Given the description of an element on the screen output the (x, y) to click on. 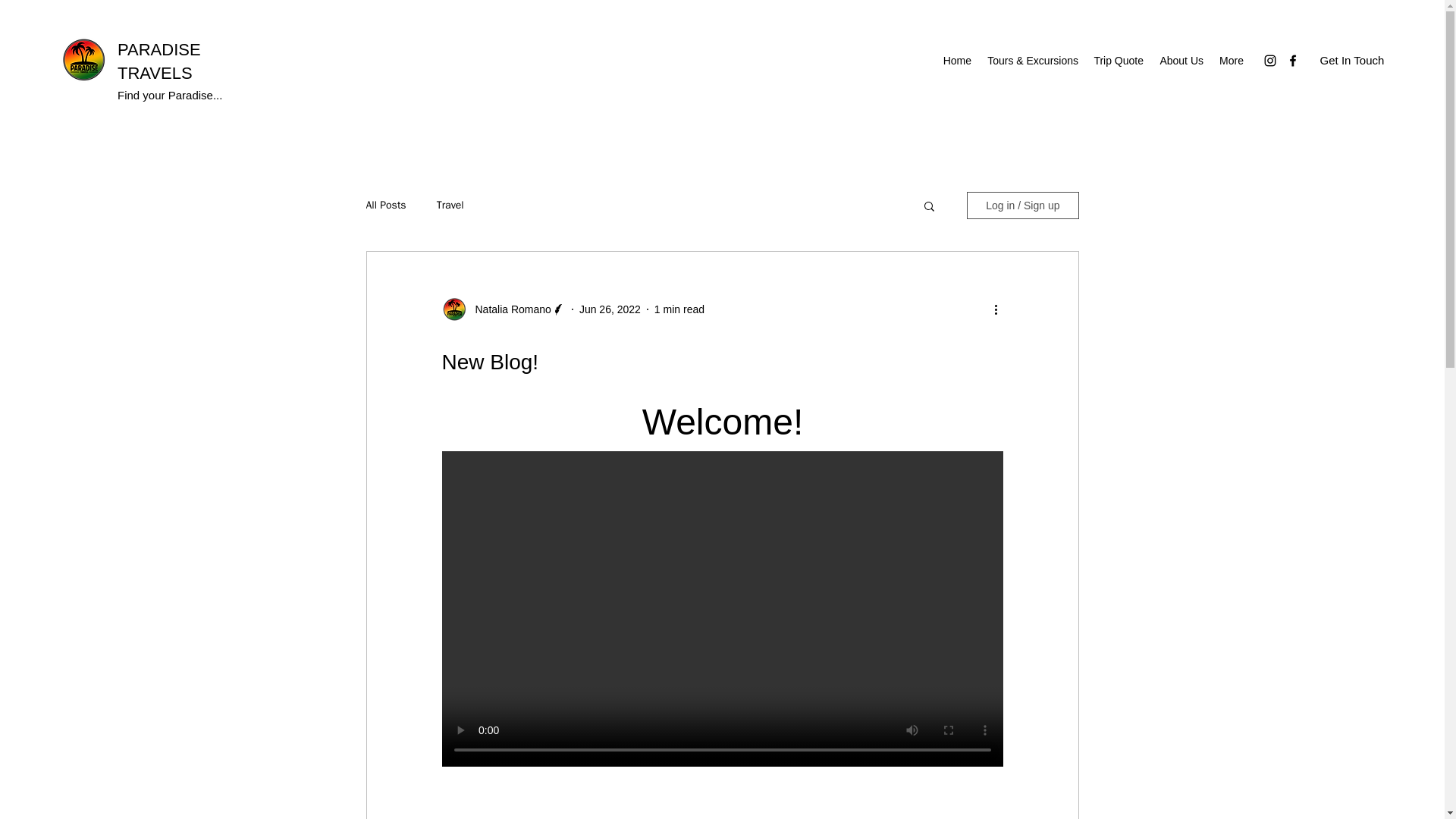
Home (956, 60)
Natalia Romano (507, 309)
Get In Touch (1351, 60)
All Posts (385, 205)
Trip Quote (1118, 60)
1 min read (678, 309)
Jun 26, 2022 (609, 309)
Travel (450, 205)
About Us (1181, 60)
PARADISE TRAVELS (158, 61)
